Given the description of an element on the screen output the (x, y) to click on. 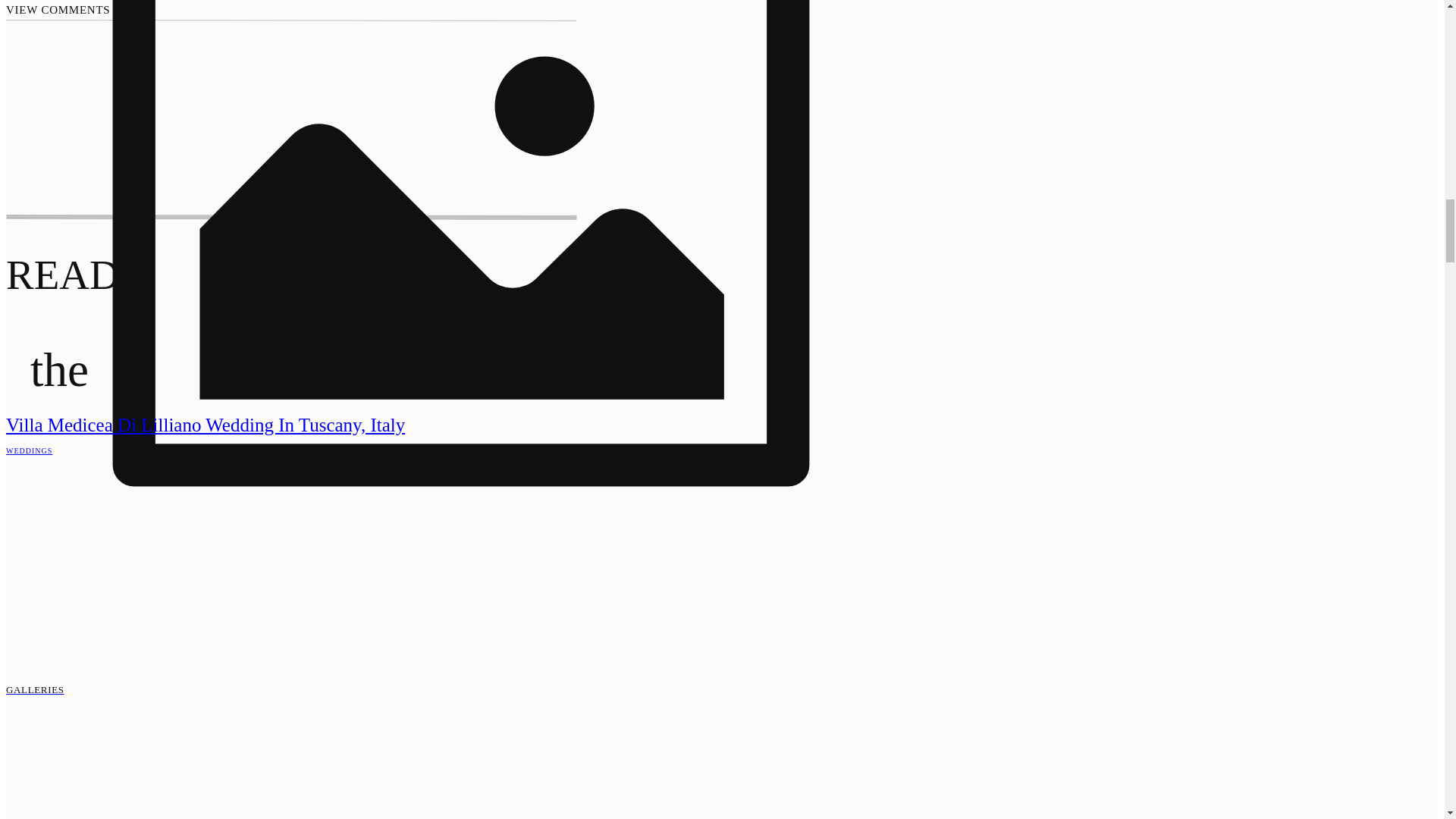
GALLERIES (460, 690)
